Given the description of an element on the screen output the (x, y) to click on. 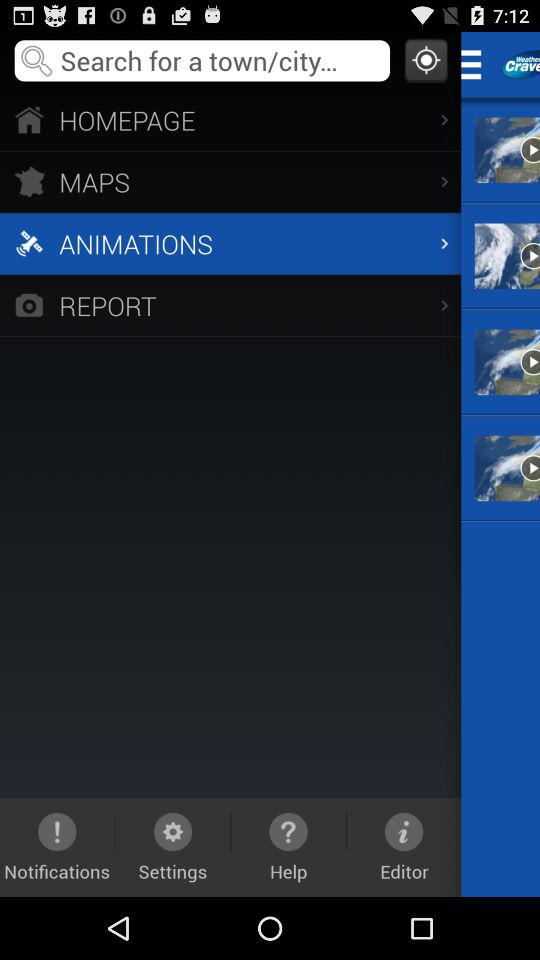
select the app above the homepage app (426, 60)
